Given the description of an element on the screen output the (x, y) to click on. 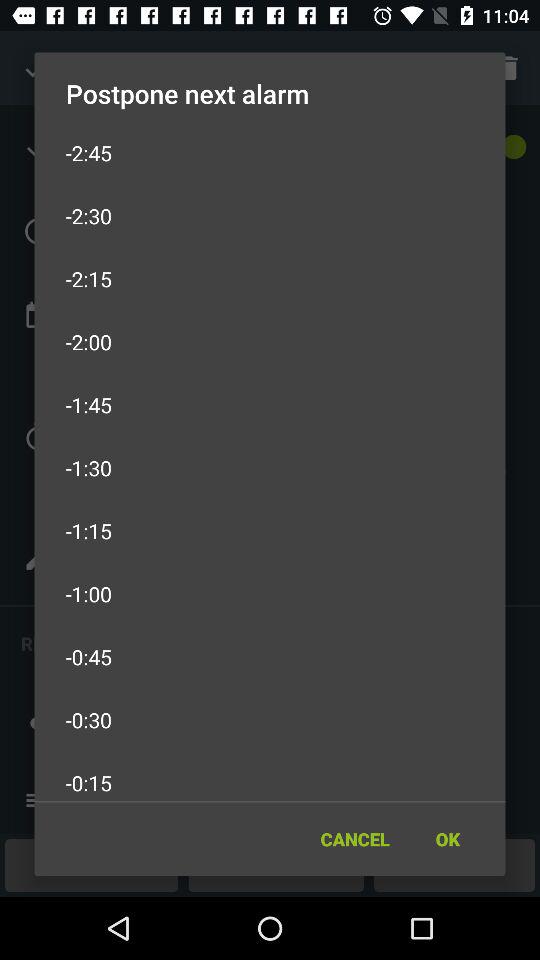
turn off the item to the right of the cancel icon (447, 838)
